Given the description of an element on the screen output the (x, y) to click on. 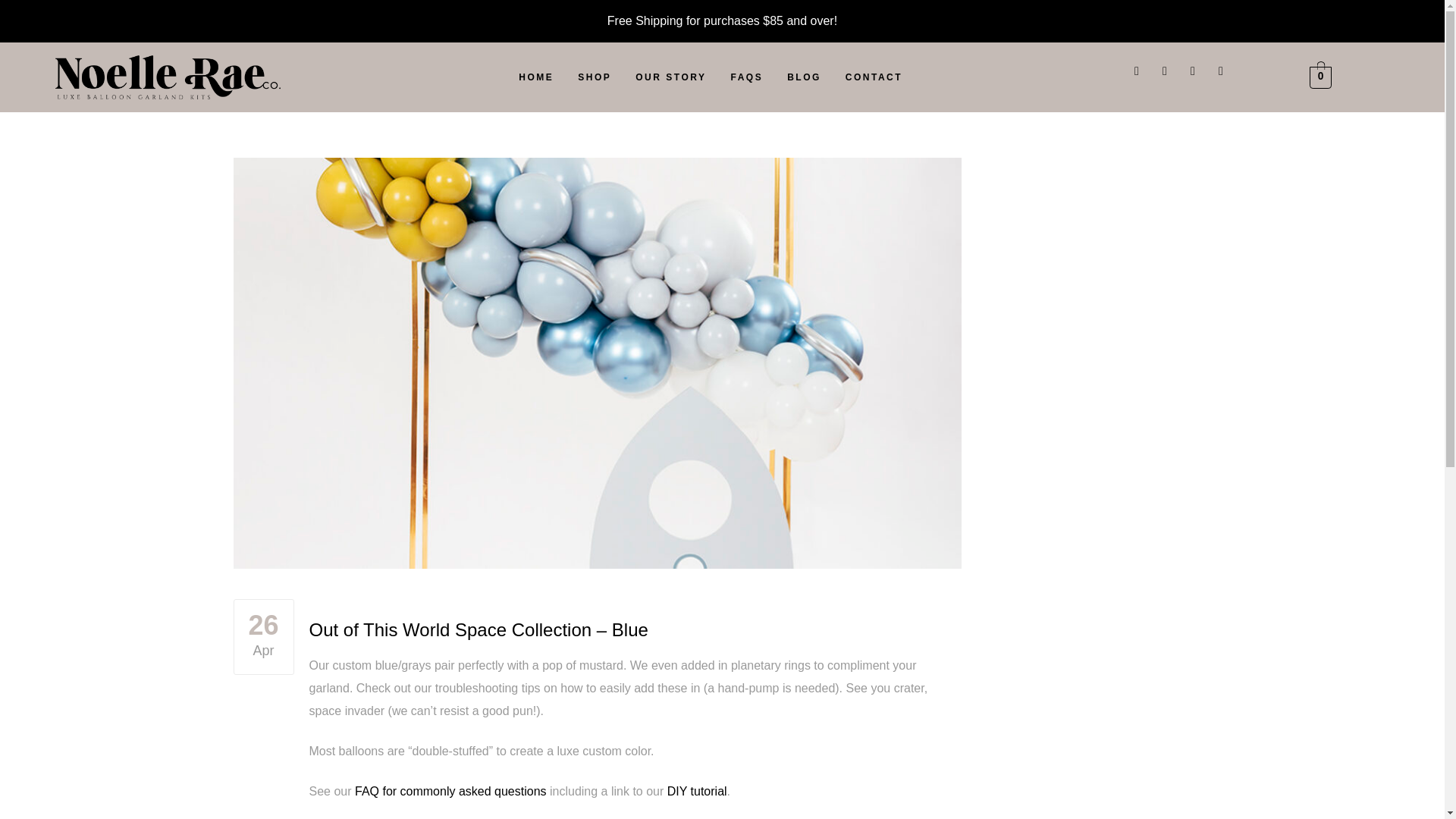
HOME (535, 77)
View your shopping cart (1320, 76)
OUR STORY (670, 77)
SHOP (594, 77)
FAQ for commonly asked questions (451, 790)
BLOG (804, 77)
0 (1320, 76)
DIY tutorial (696, 790)
FAQS (746, 77)
CONTACT (873, 77)
